Given the description of an element on the screen output the (x, y) to click on. 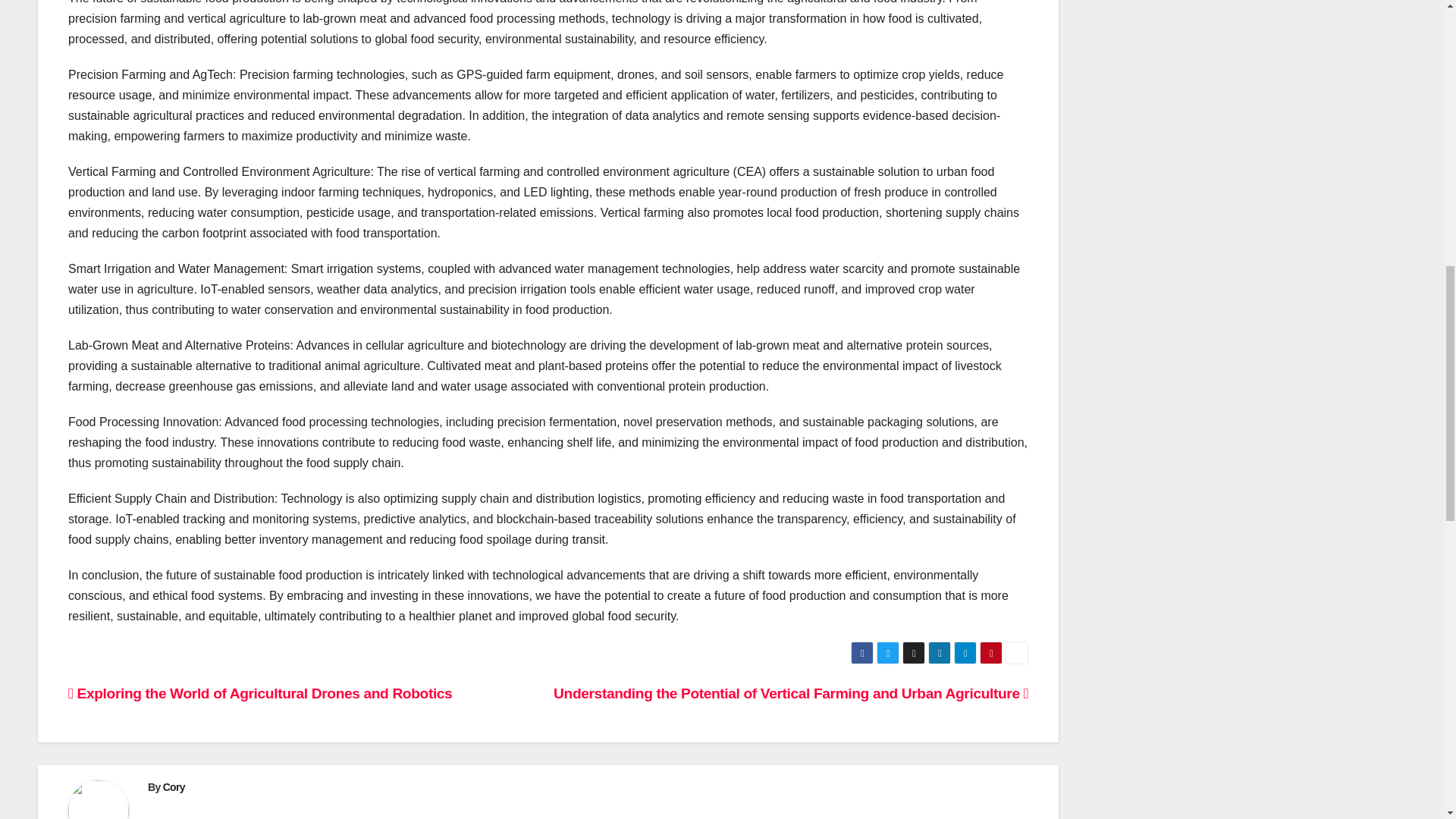
Exploring the World of Agricultural Drones and Robotics (259, 693)
Cory (173, 787)
